Given the description of an element on the screen output the (x, y) to click on. 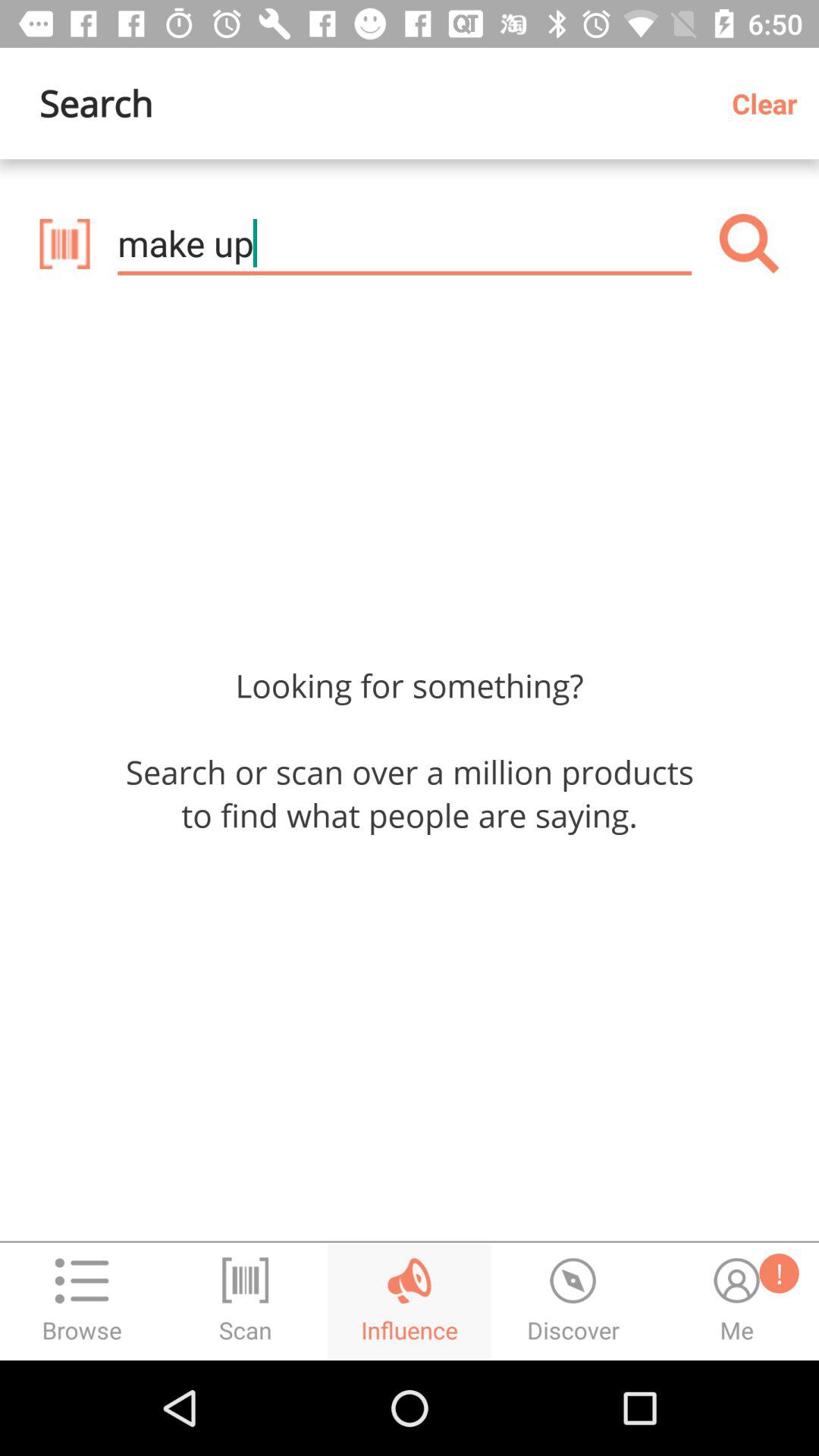
press the item to the left of make up (64, 243)
